Given the description of an element on the screen output the (x, y) to click on. 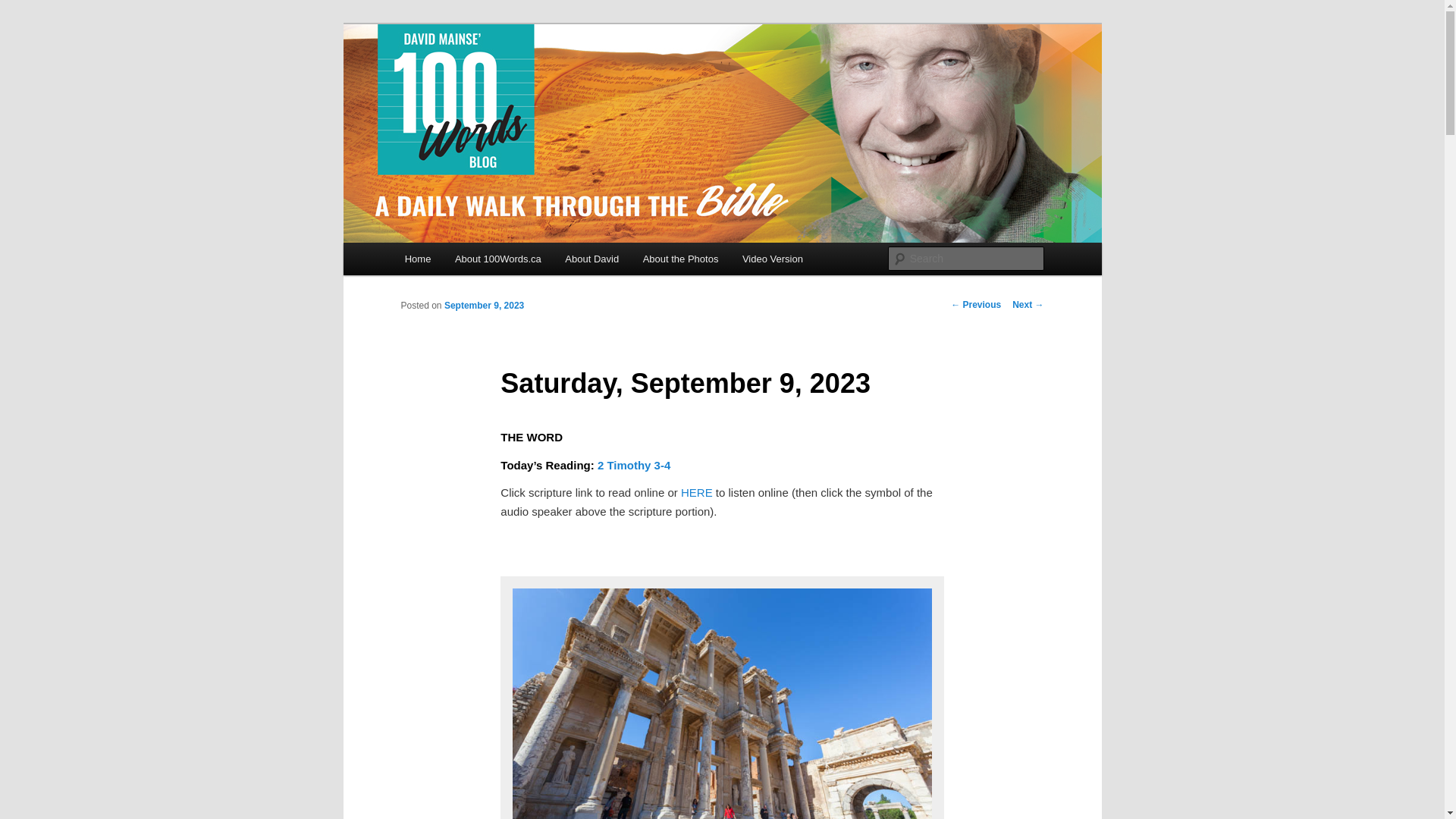
2 Timothy 3-4 (632, 464)
September 9, 2013 (721, 701)
HERE (697, 492)
September 9, 2023 (484, 305)
Home (417, 258)
100Words.ca: A Daily Walk Through The Bible (647, 78)
About the Photos (680, 258)
About David (591, 258)
5:00 am (484, 305)
About 100Words.ca (497, 258)
